Given the description of an element on the screen output the (x, y) to click on. 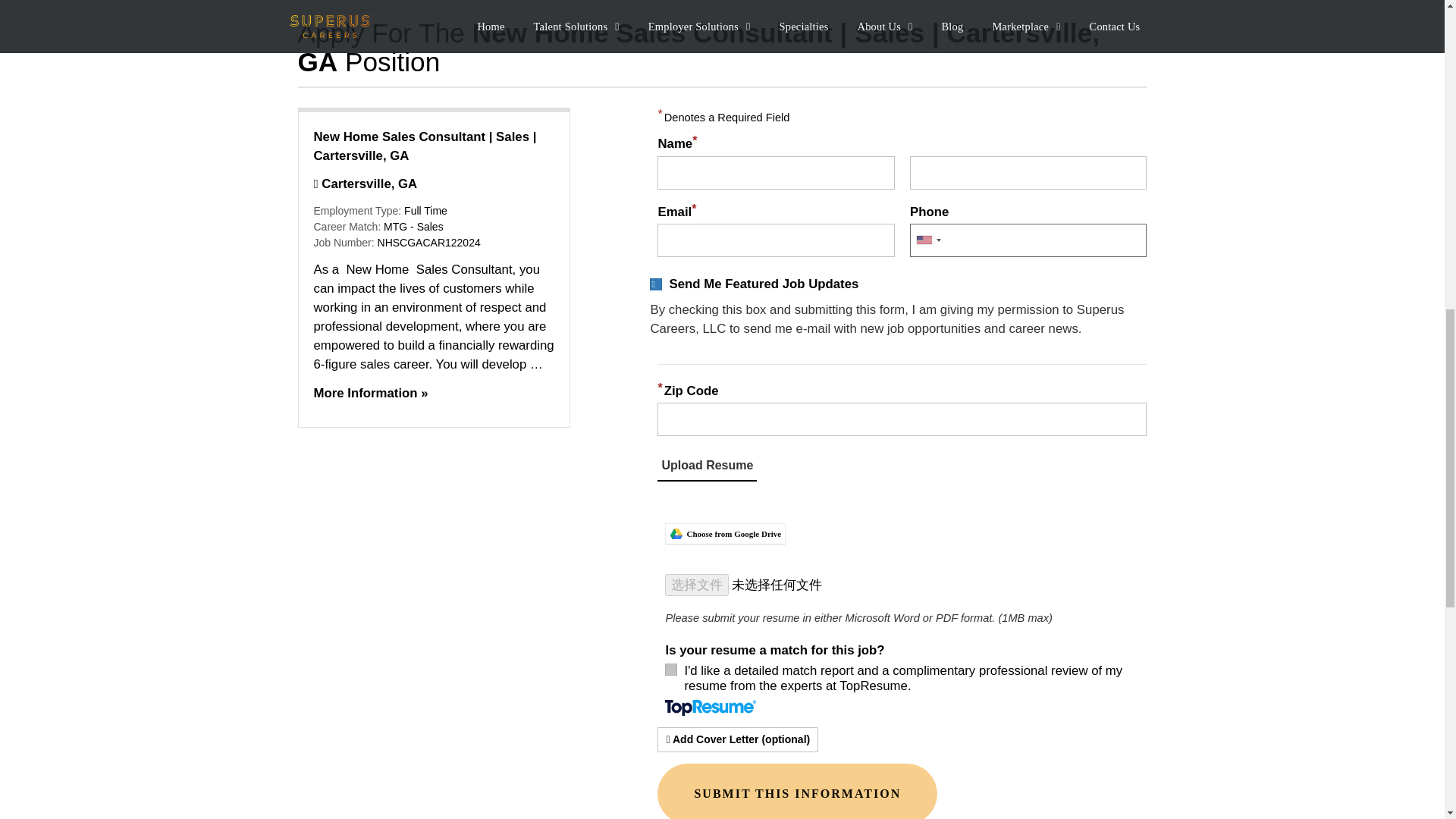
Choose from Drop Box (901, 506)
